Given the description of an element on the screen output the (x, y) to click on. 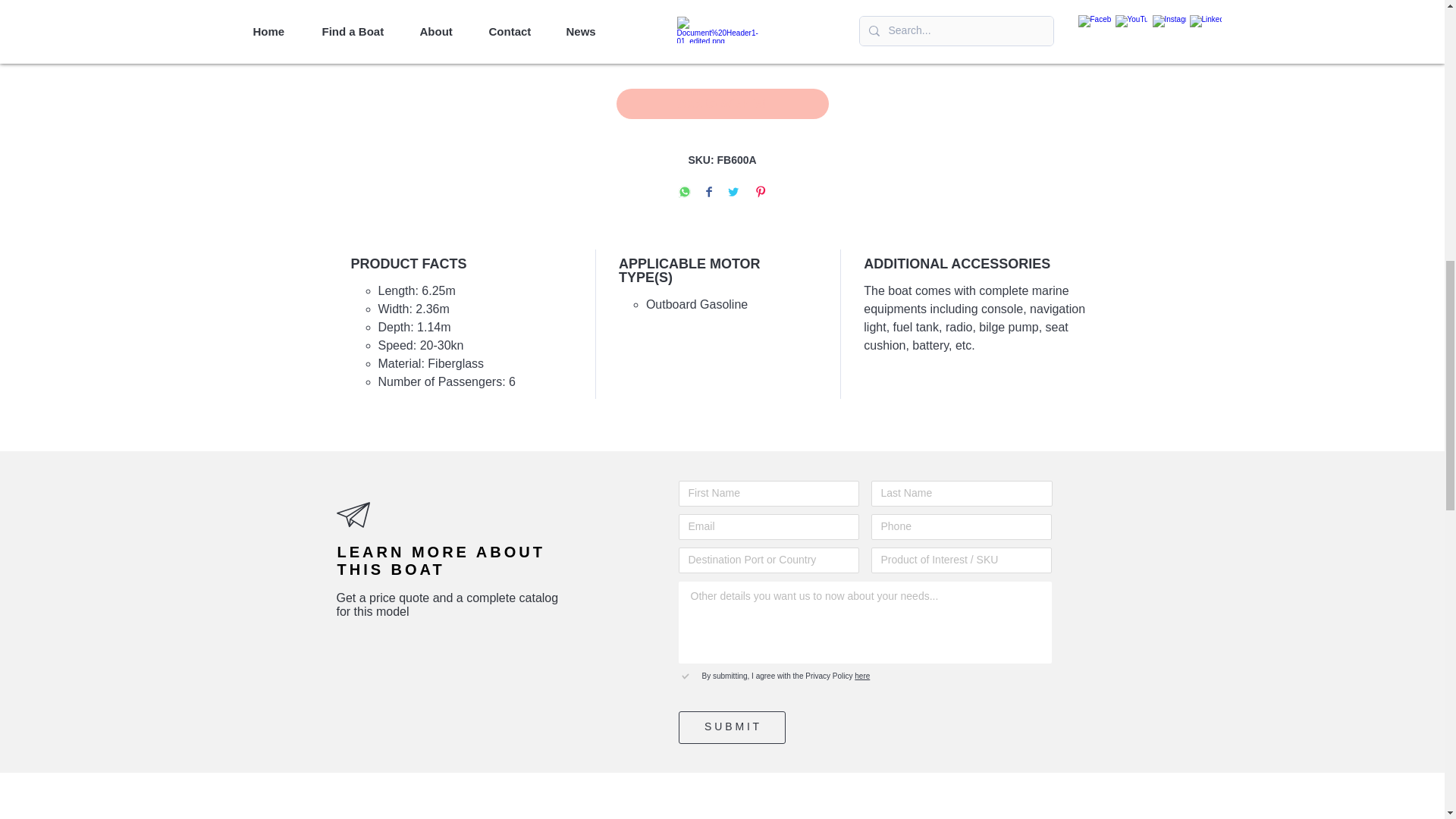
S U B M I T (731, 727)
Add to Wishlist (721, 103)
here (860, 675)
